Given the description of an element on the screen output the (x, y) to click on. 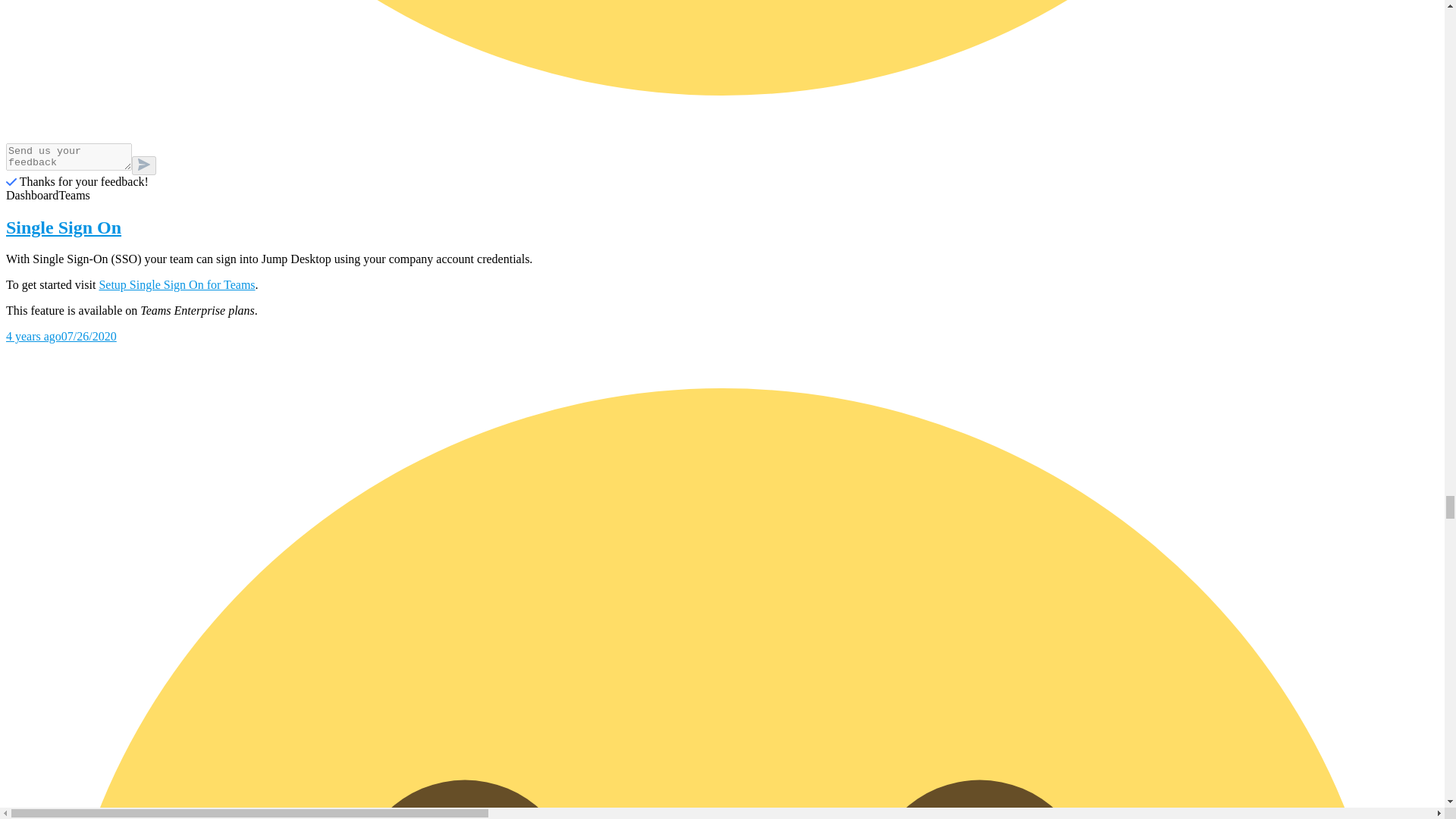
Submit Button (143, 165)
Setup Single Sign On for Teams (176, 284)
Single Sign On (721, 227)
